Given the description of an element on the screen output the (x, y) to click on. 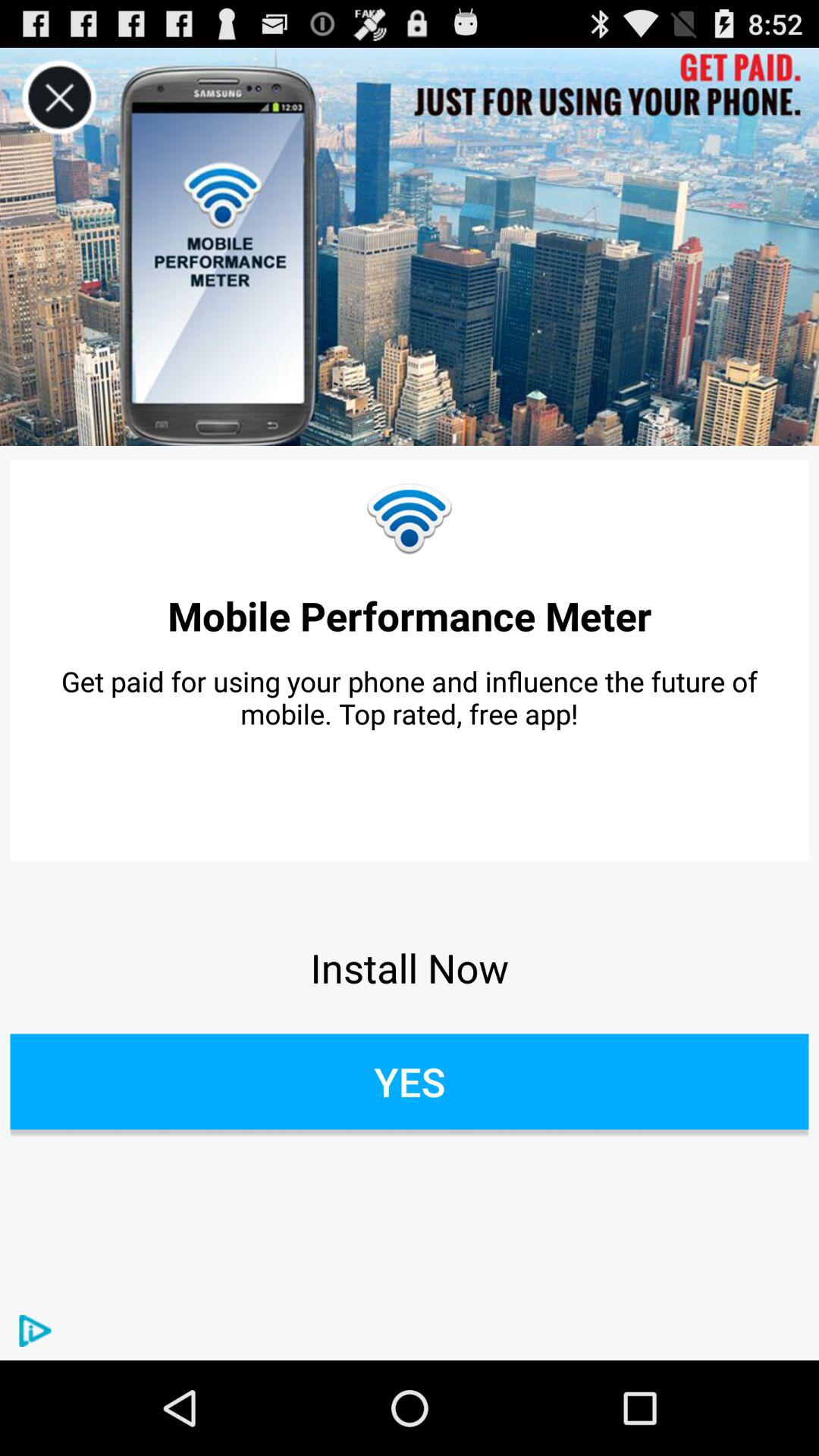
turn on the icon at the top left corner (59, 97)
